Given the description of an element on the screen output the (x, y) to click on. 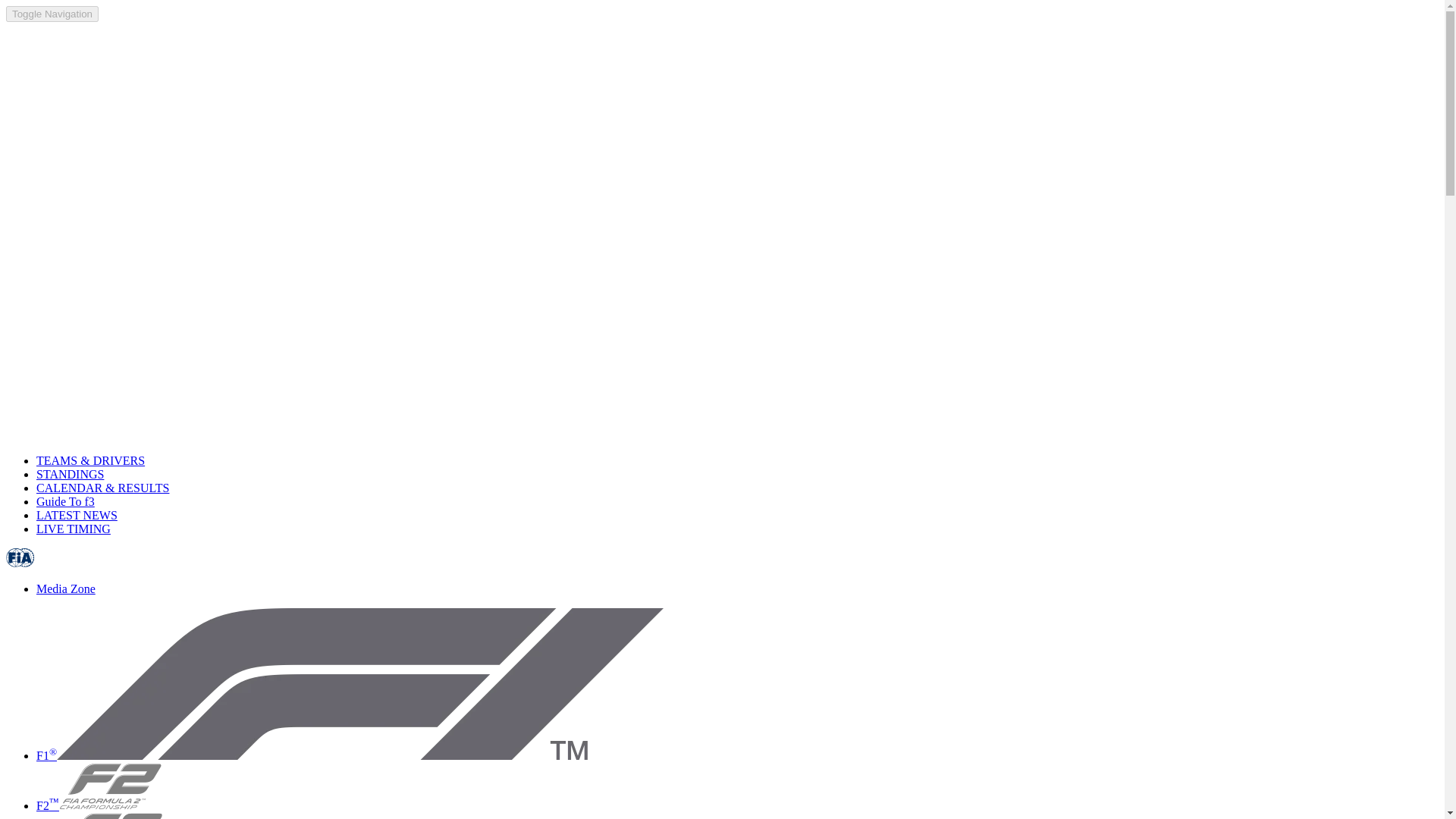
Guide To f3 (65, 501)
Media Zone (66, 588)
LATEST NEWS (76, 514)
LIVE TIMING (73, 528)
STANDINGS (69, 473)
Toggle Navigation (52, 13)
